Given the description of an element on the screen output the (x, y) to click on. 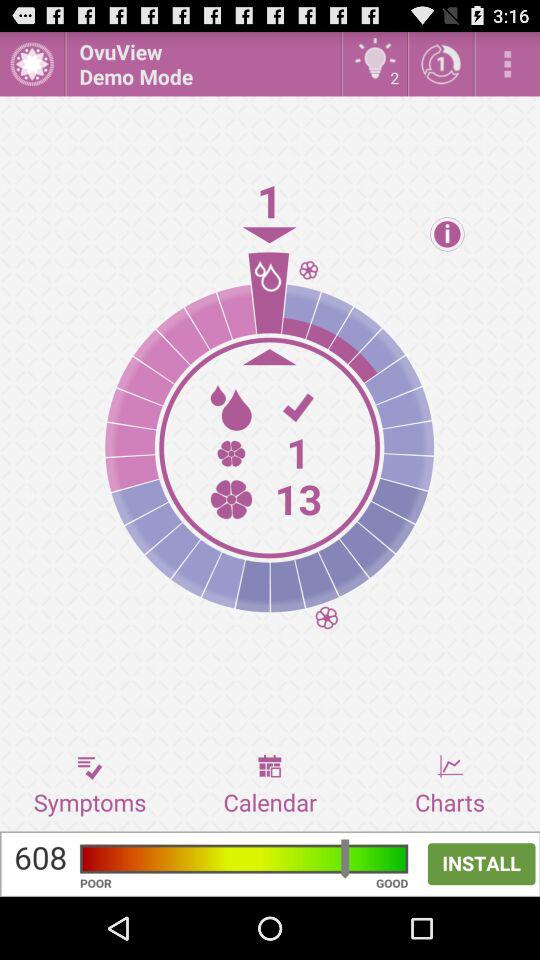
see menu (507, 63)
